Given the description of an element on the screen output the (x, y) to click on. 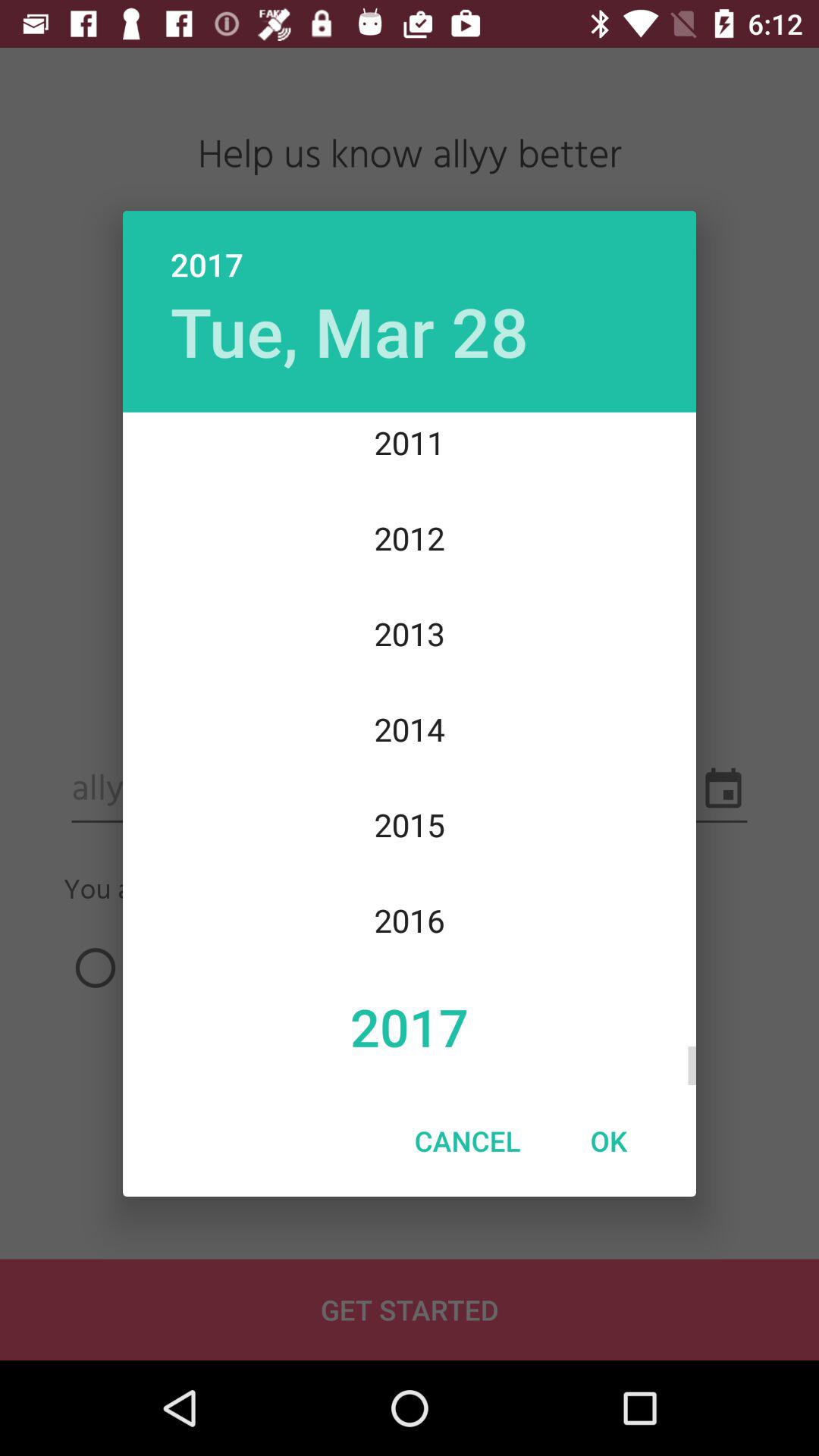
turn on the item above 2011 icon (349, 331)
